Given the description of an element on the screen output the (x, y) to click on. 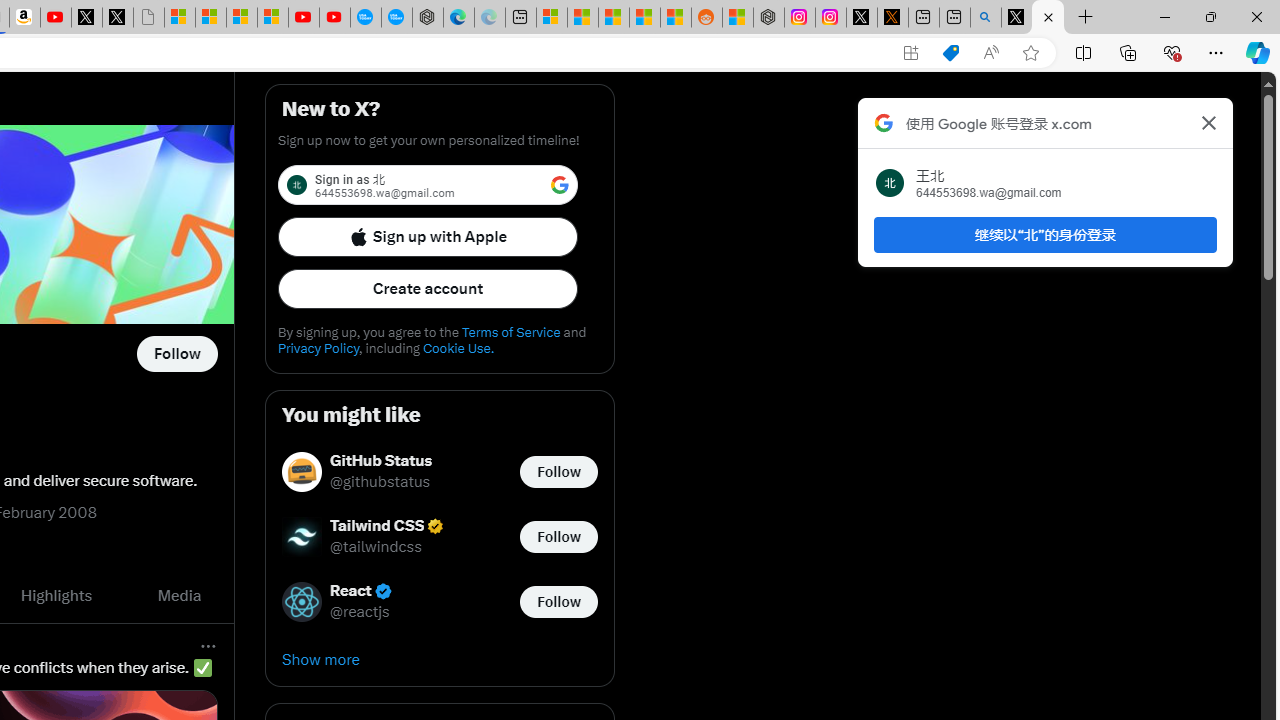
Class: LgbsSe-Bz112c (559, 184)
Class: Bz112c Bz112c-r9oPif (1208, 122)
GitHub (@github) / X (1048, 17)
GitHub Status @githubstatus Follow @githubstatus (440, 471)
Shopping in Microsoft Edge (950, 53)
Privacy Policy (317, 348)
Shanghai, China weather forecast | Microsoft Weather (582, 17)
Media (179, 595)
